Given the description of an element on the screen output the (x, y) to click on. 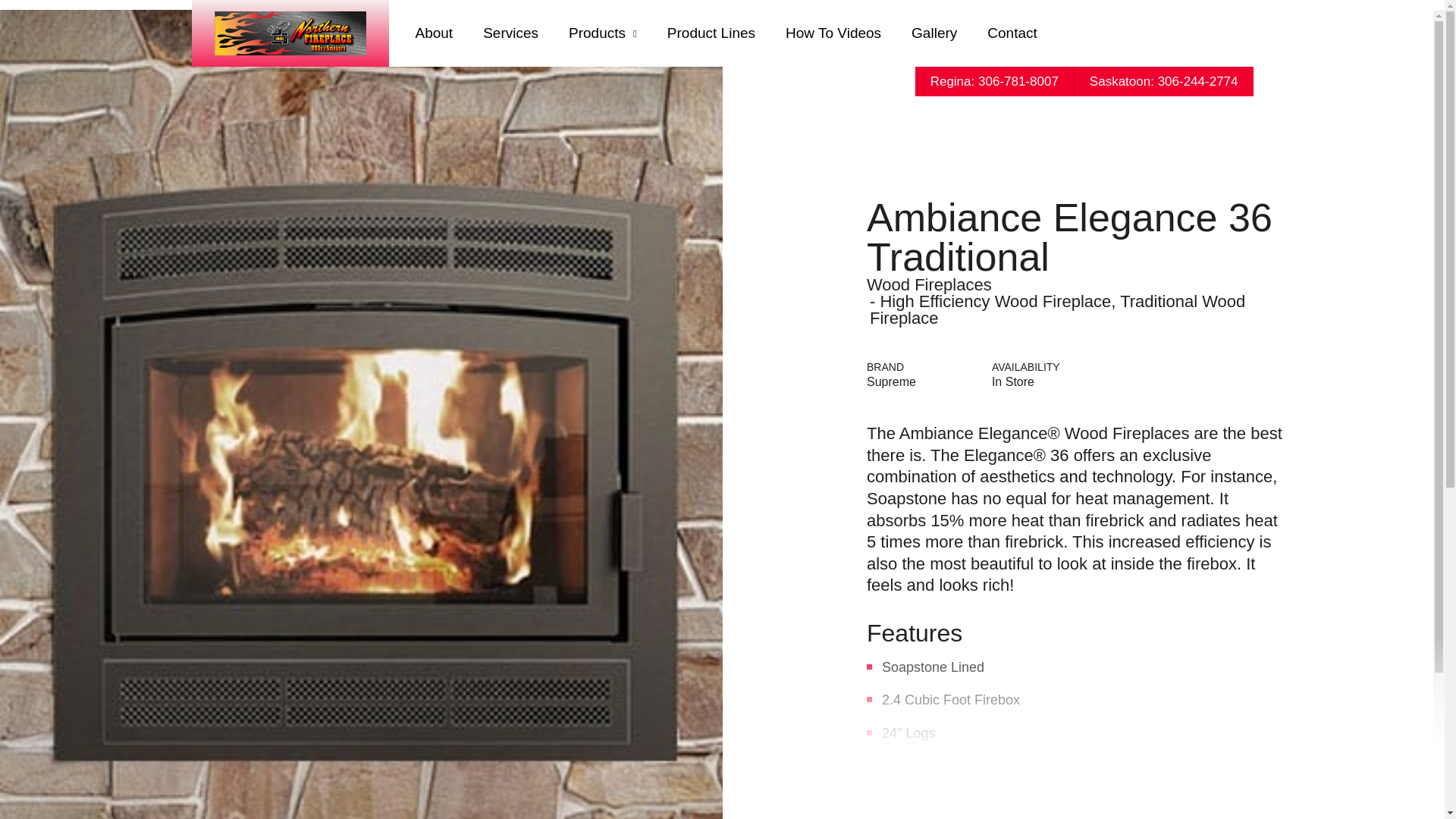
How To Videos (833, 32)
About (434, 32)
Product Lines (711, 32)
Regina: 306-781-8007 (994, 81)
Products (602, 32)
Gallery (934, 32)
Services (510, 32)
Contact (1011, 32)
Saskatoon: 306-244-2774 (1164, 81)
